Given the description of an element on the screen output the (x, y) to click on. 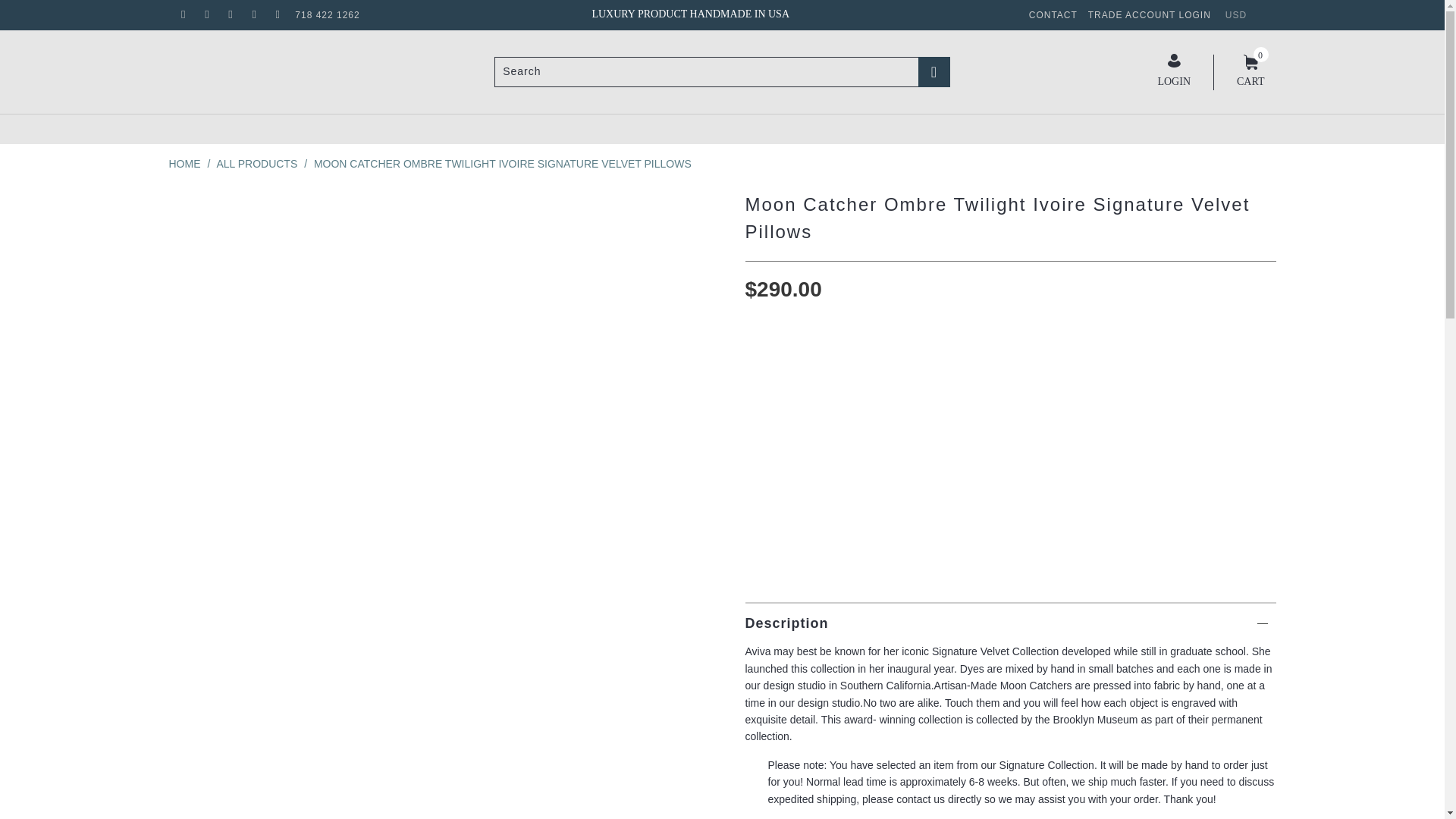
Aviva Stanoff Design (288, 62)
718 422 1262 (327, 15)
Aviva Stanoff Design (184, 163)
Aviva Stanoff Design on Instagram (253, 14)
My Account  (1174, 72)
Aviva Stanoff Design on LinkedIn (276, 14)
All Products (256, 163)
Aviva Stanoff Design on Pinterest (229, 14)
Aviva Stanoff Design on YouTube (206, 14)
Aviva Stanoff Design on Facebook (182, 14)
